Given the description of an element on the screen output the (x, y) to click on. 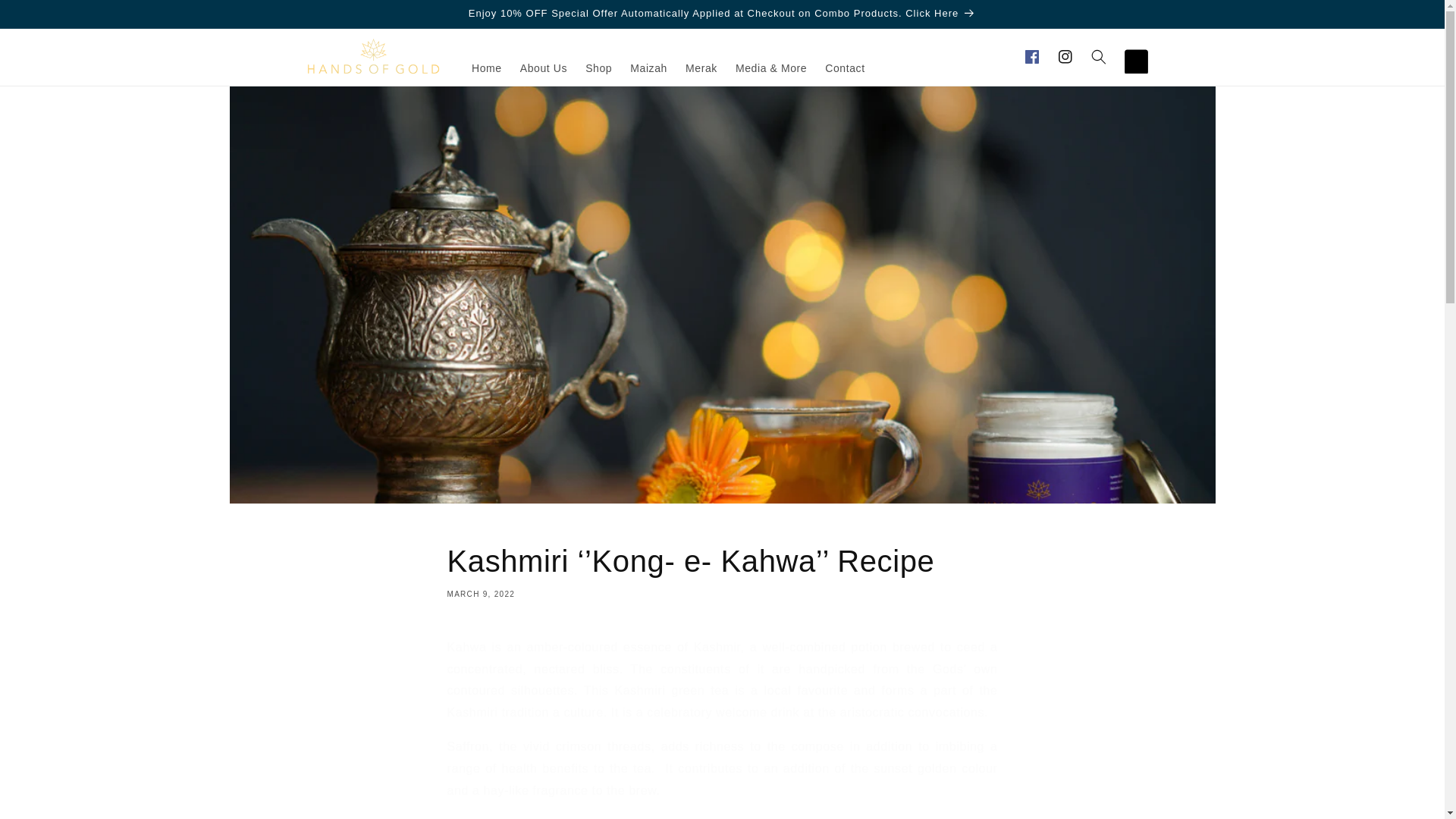
Merak (701, 68)
Maizah (649, 68)
Contact (844, 68)
Skip to content (45, 17)
About Us (543, 68)
Home (487, 68)
Cart (1131, 56)
Facebook (1031, 56)
Shop (598, 68)
Instagram (1064, 56)
